Given the description of an element on the screen output the (x, y) to click on. 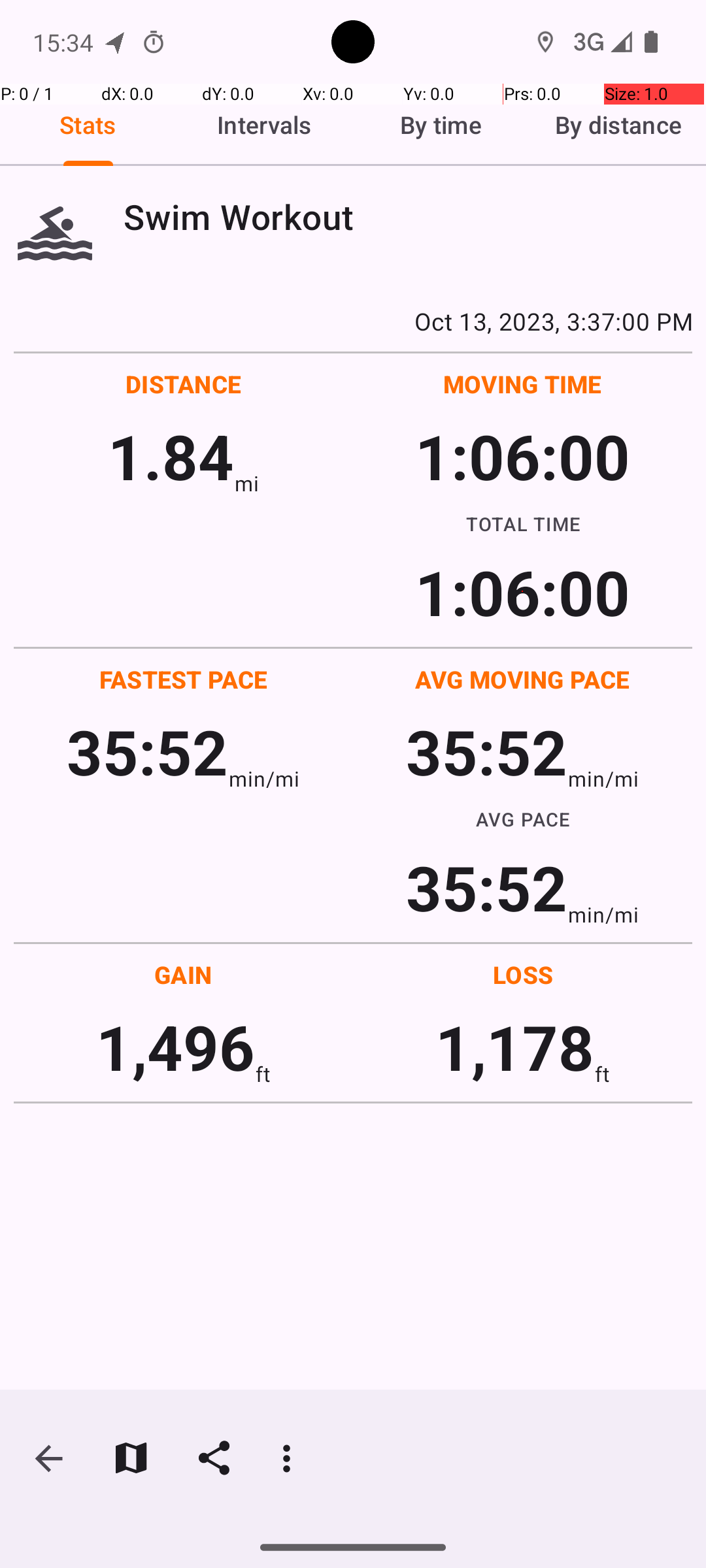
Swim Workout Element type: android.widget.TextView (407, 216)
Oct 13, 2023, 3:37:00 PM Element type: android.widget.TextView (352, 320)
1.84 Element type: android.widget.TextView (170, 455)
1:06:00 Element type: android.widget.TextView (522, 455)
35:52 Element type: android.widget.TextView (147, 750)
1,496 Element type: android.widget.TextView (175, 1045)
1,178 Element type: android.widget.TextView (514, 1045)
